Given the description of an element on the screen output the (x, y) to click on. 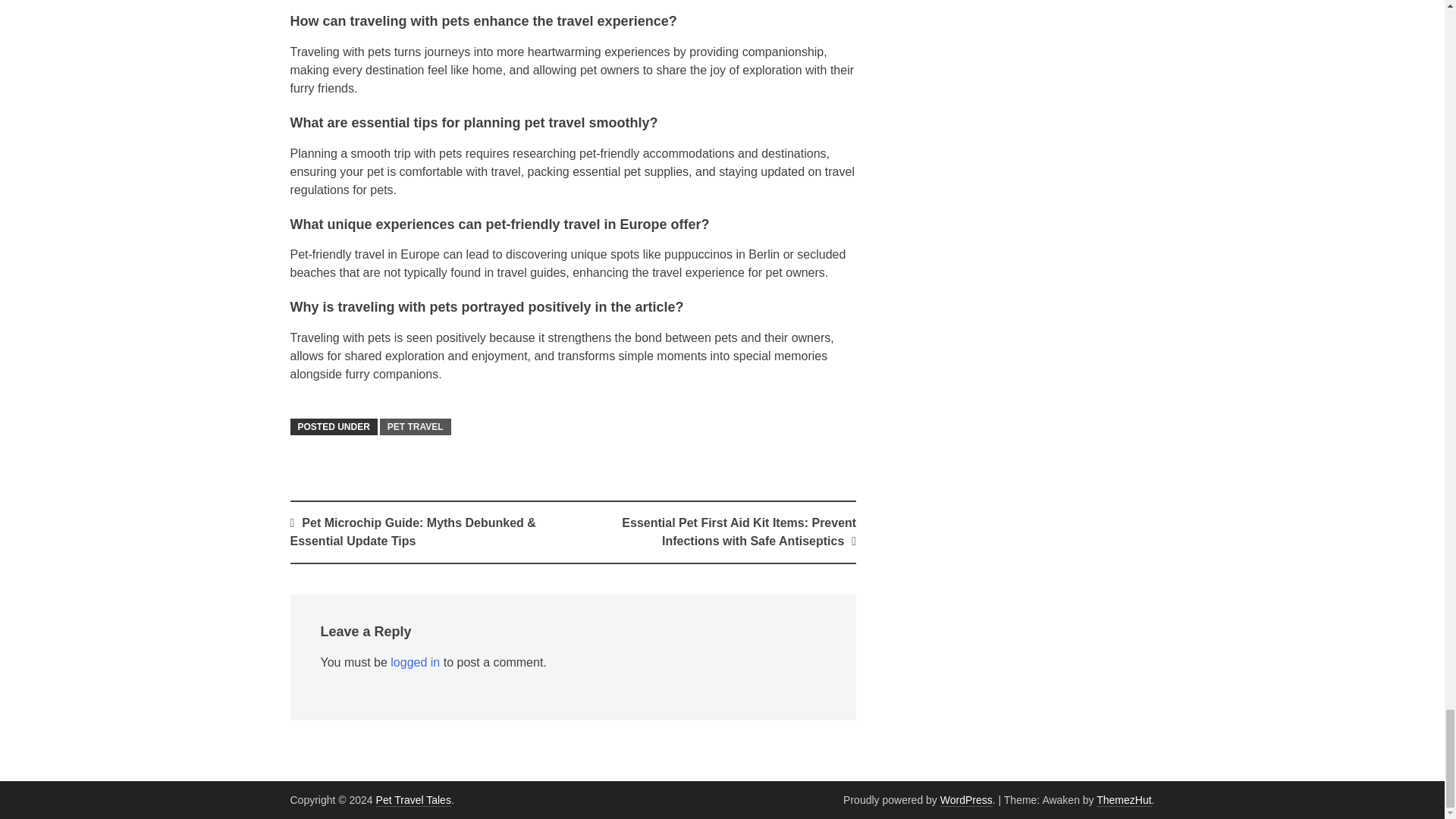
logged in (414, 662)
ThemezHut (1123, 799)
PET TRAVEL (415, 426)
Pet Travel Tales (413, 799)
WordPress (966, 799)
WordPress (966, 799)
Pet Travel Tales (413, 799)
